Given the description of an element on the screen output the (x, y) to click on. 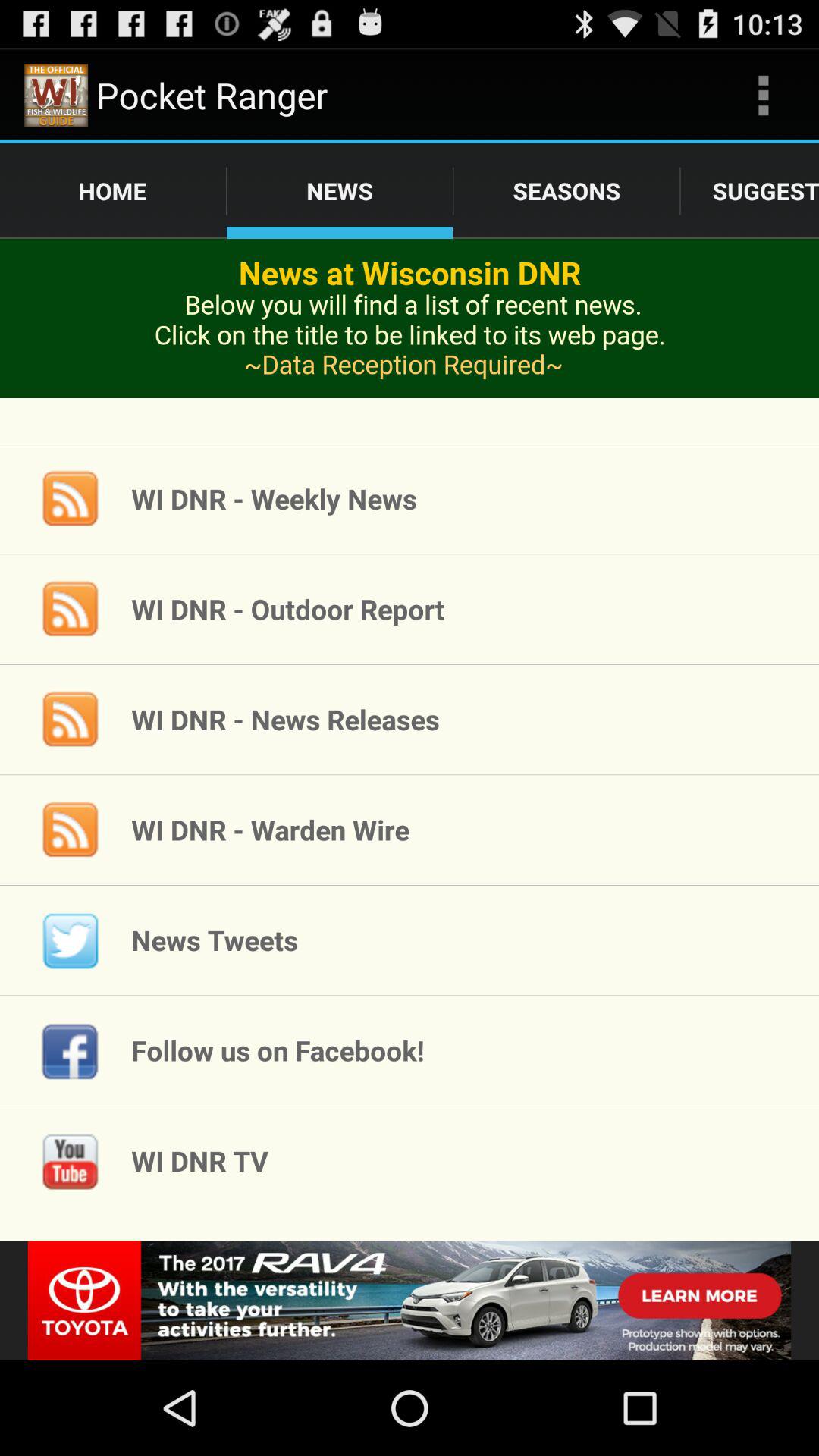
advertisement page (409, 340)
